Given the description of an element on the screen output the (x, y) to click on. 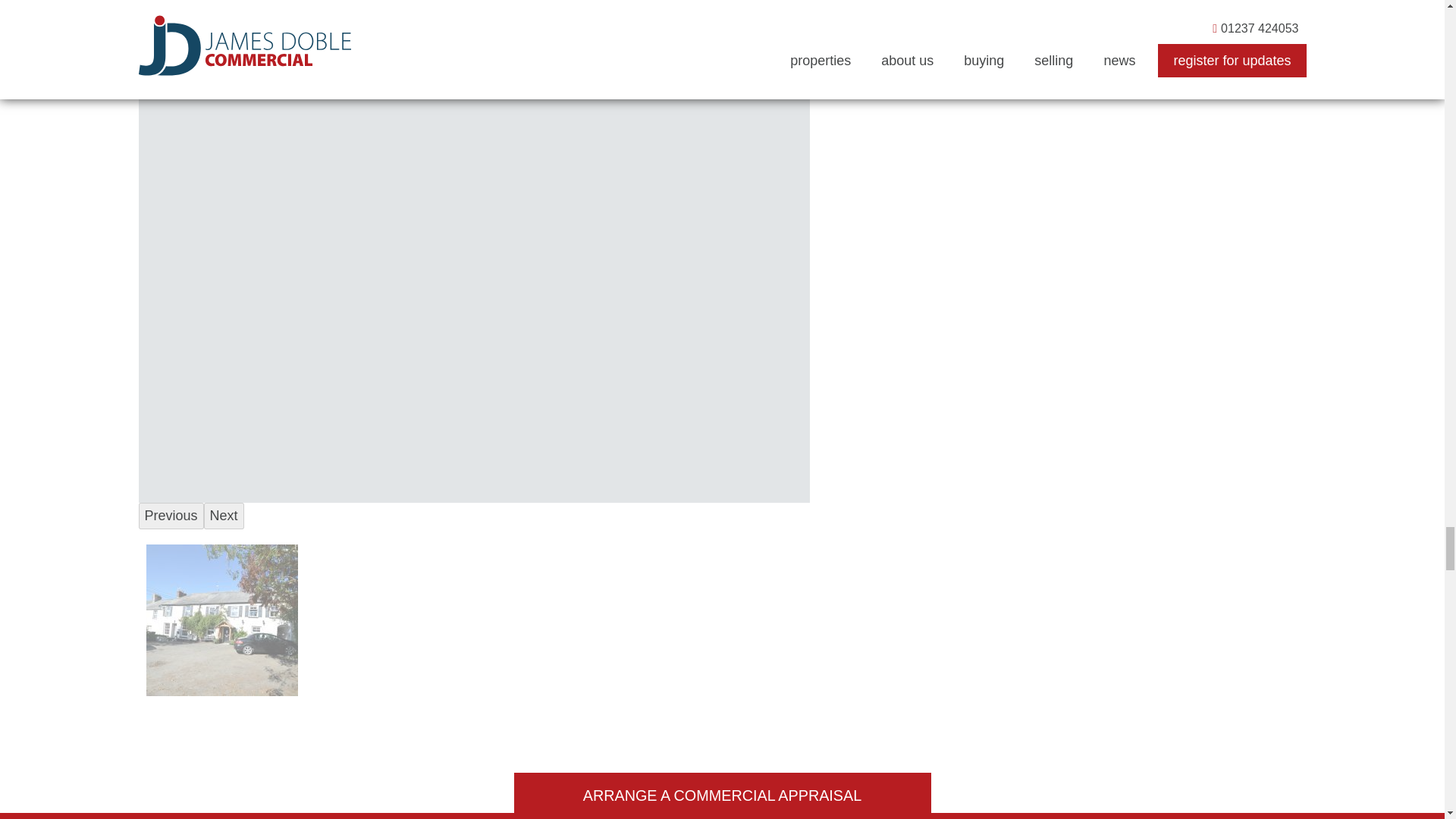
Next (223, 515)
Previous (170, 515)
